Given the description of an element on the screen output the (x, y) to click on. 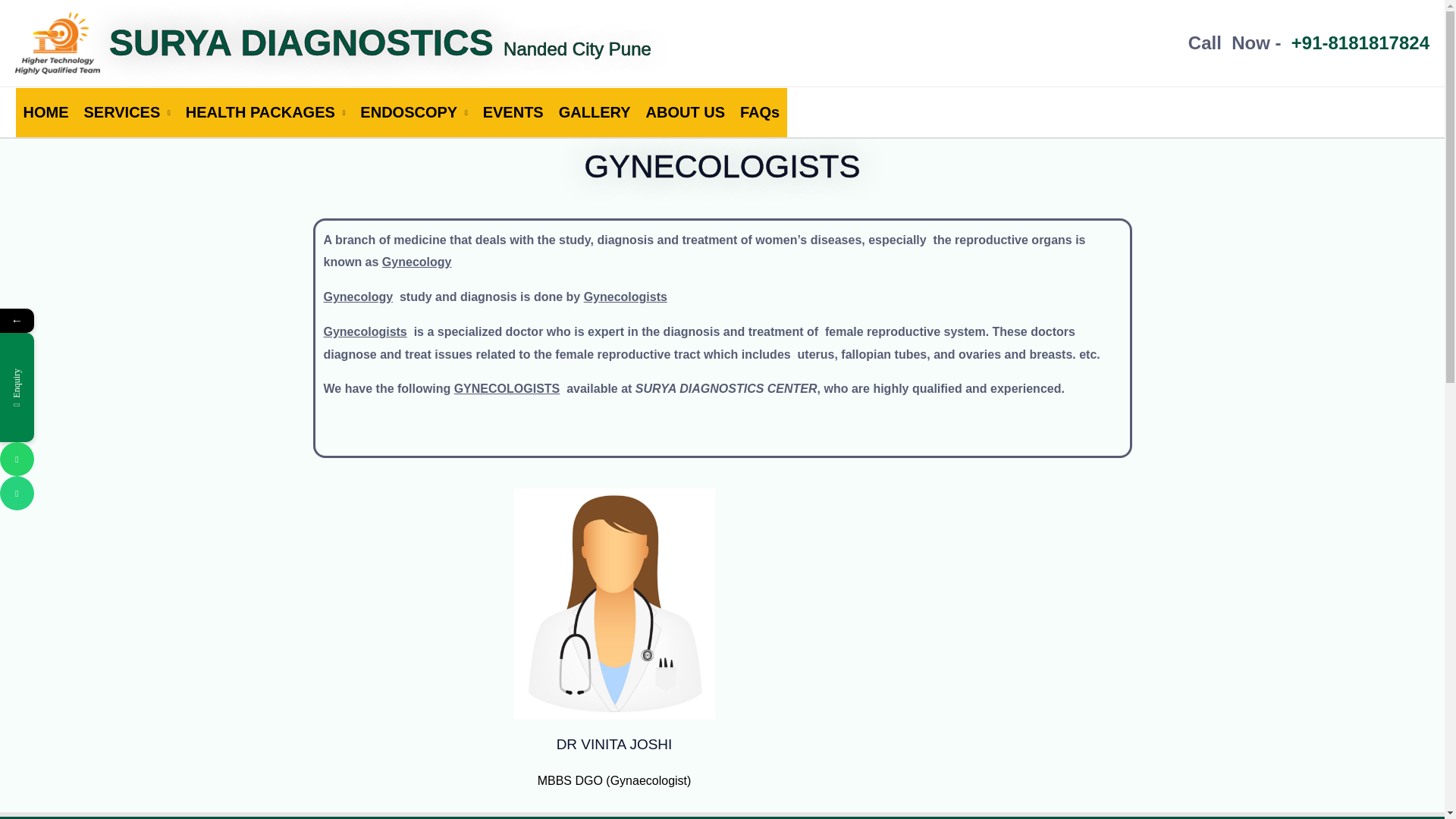
FAQs (759, 112)
EVENTS (513, 112)
ABOUT US (685, 112)
HOME (44, 112)
Nanded City Pune (576, 44)
WhatsApp (85, 458)
WhatsApp (16, 458)
ENDOSCOPY (413, 112)
SERVICES (126, 112)
Phone (85, 492)
